Given the description of an element on the screen output the (x, y) to click on. 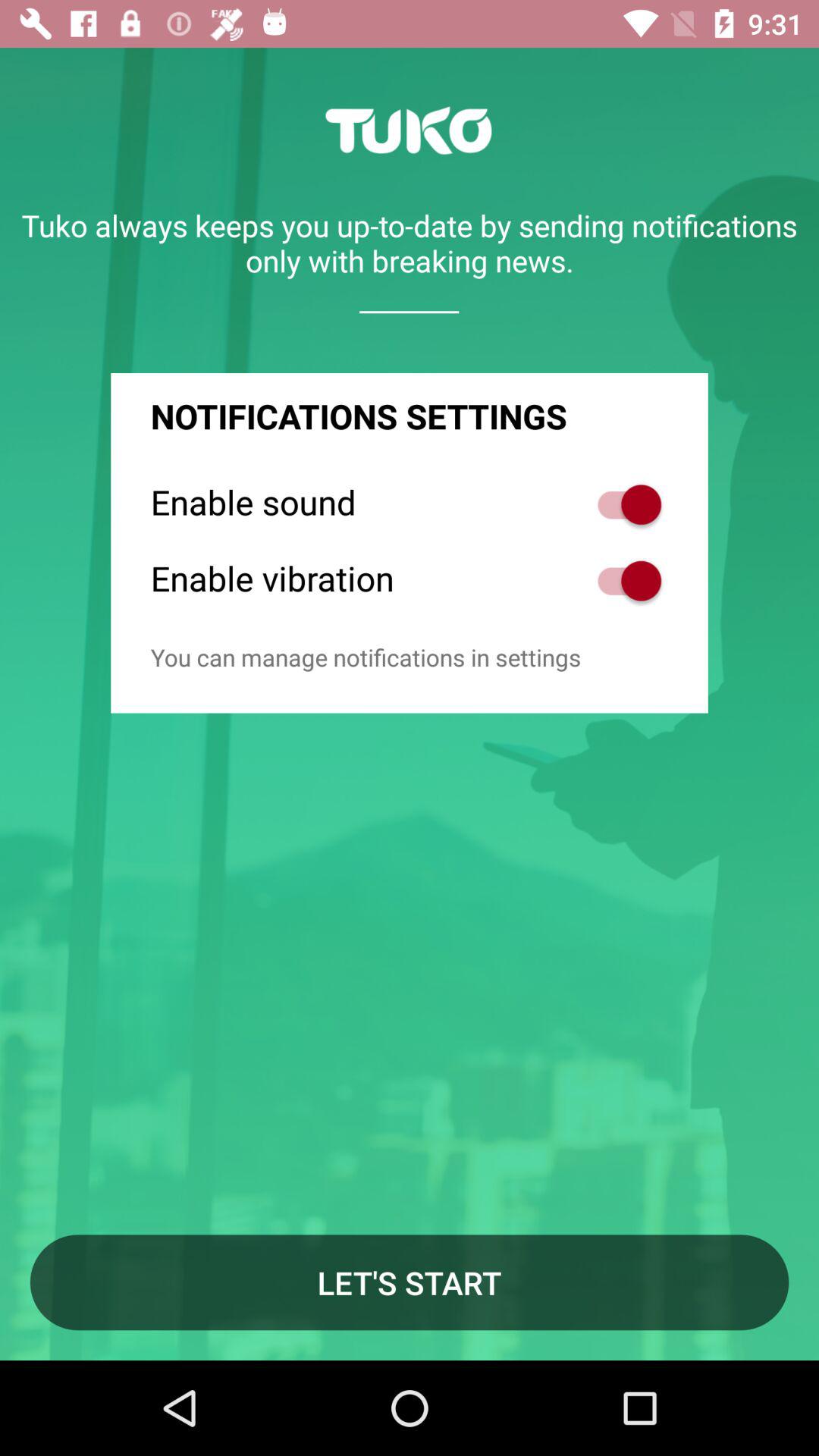
unselect the sound (621, 504)
